Given the description of an element on the screen output the (x, y) to click on. 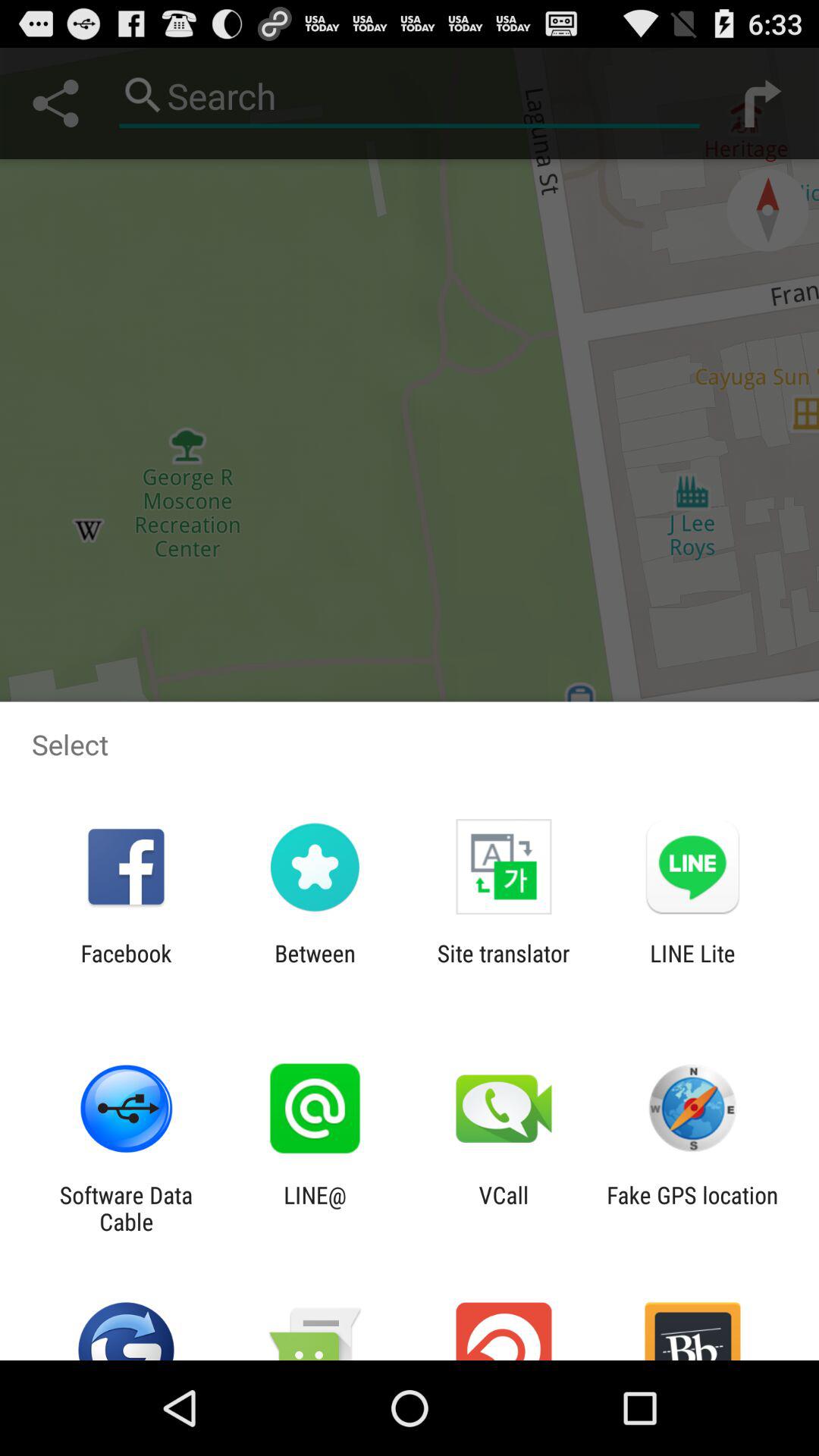
scroll to facebook item (125, 966)
